Given the description of an element on the screen output the (x, y) to click on. 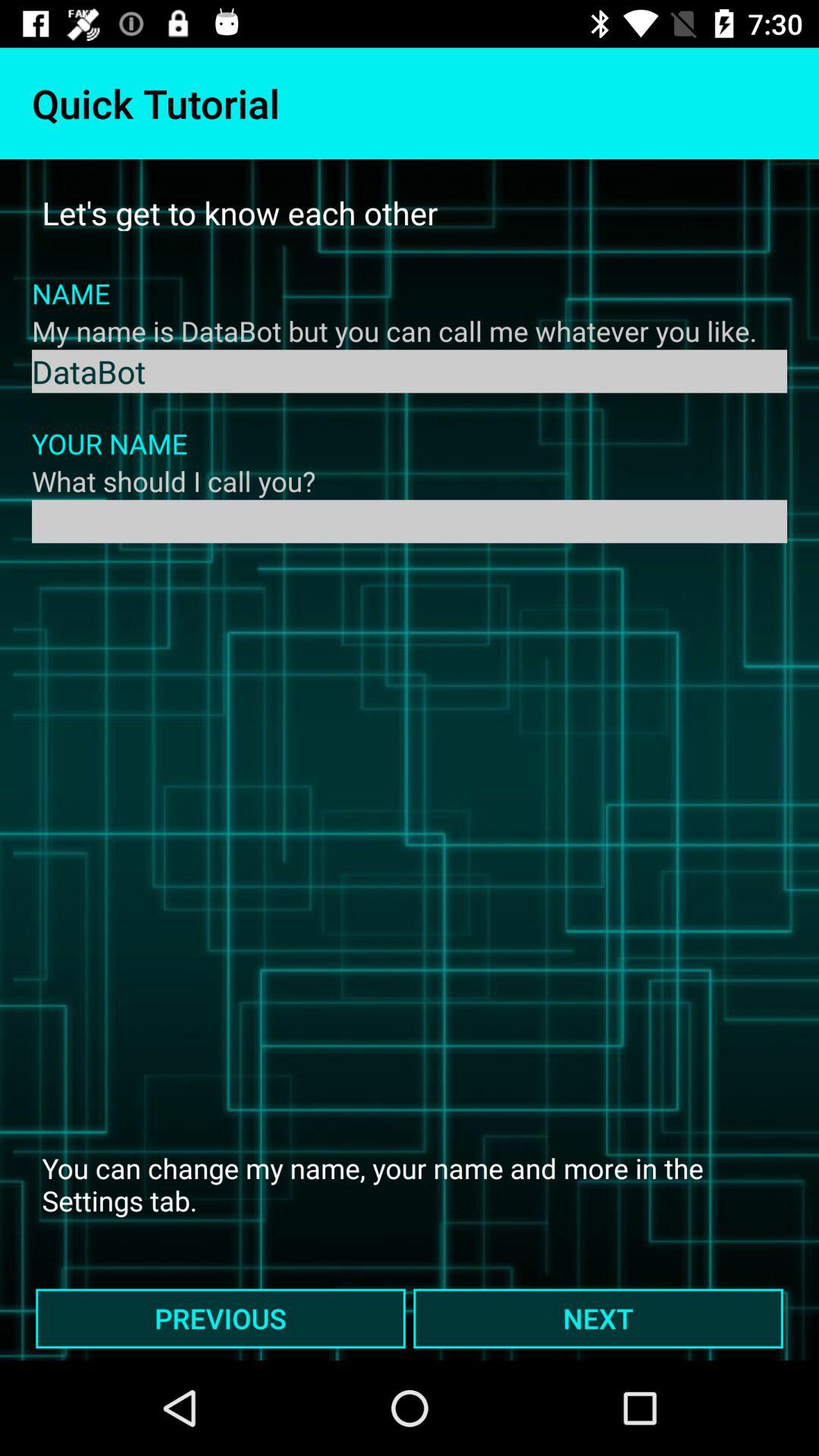
open text box (409, 521)
